Given the description of an element on the screen output the (x, y) to click on. 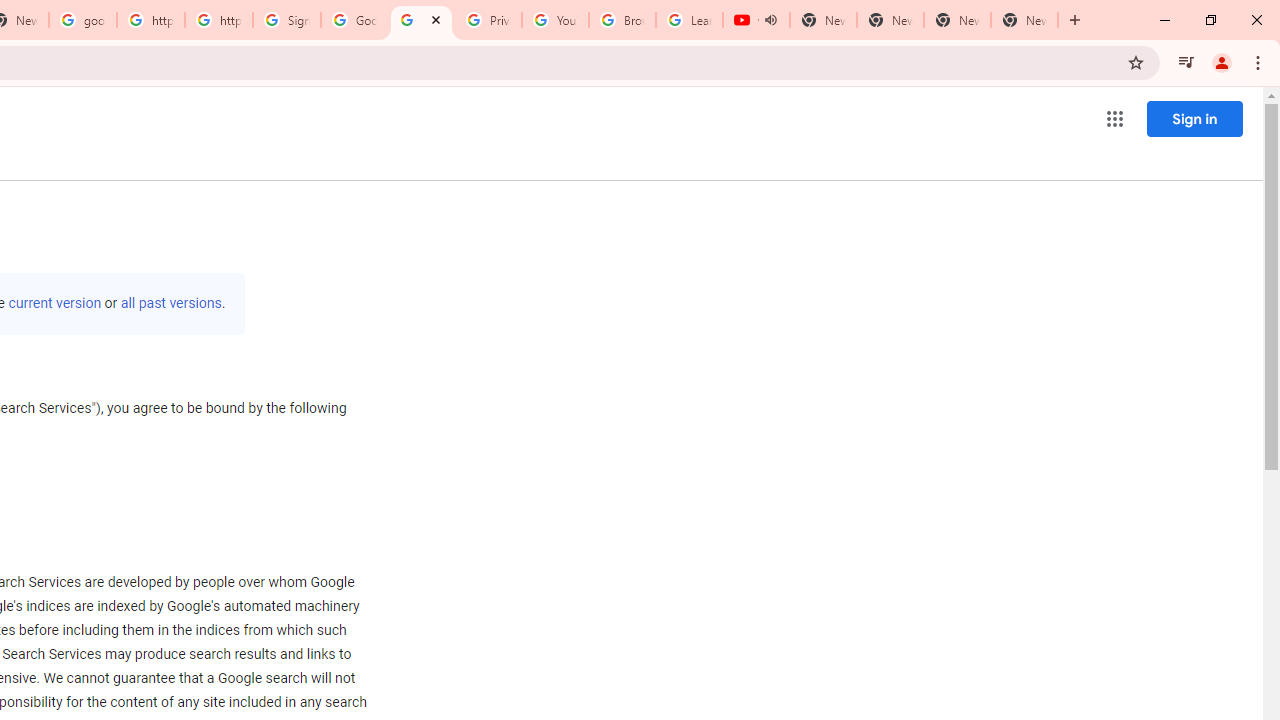
all past versions (170, 303)
https://scholar.google.com/ (219, 20)
current version (54, 303)
Mute tab (770, 20)
https://scholar.google.com/ (150, 20)
Sign in - Google Accounts (287, 20)
YouTube (555, 20)
